Given the description of an element on the screen output the (x, y) to click on. 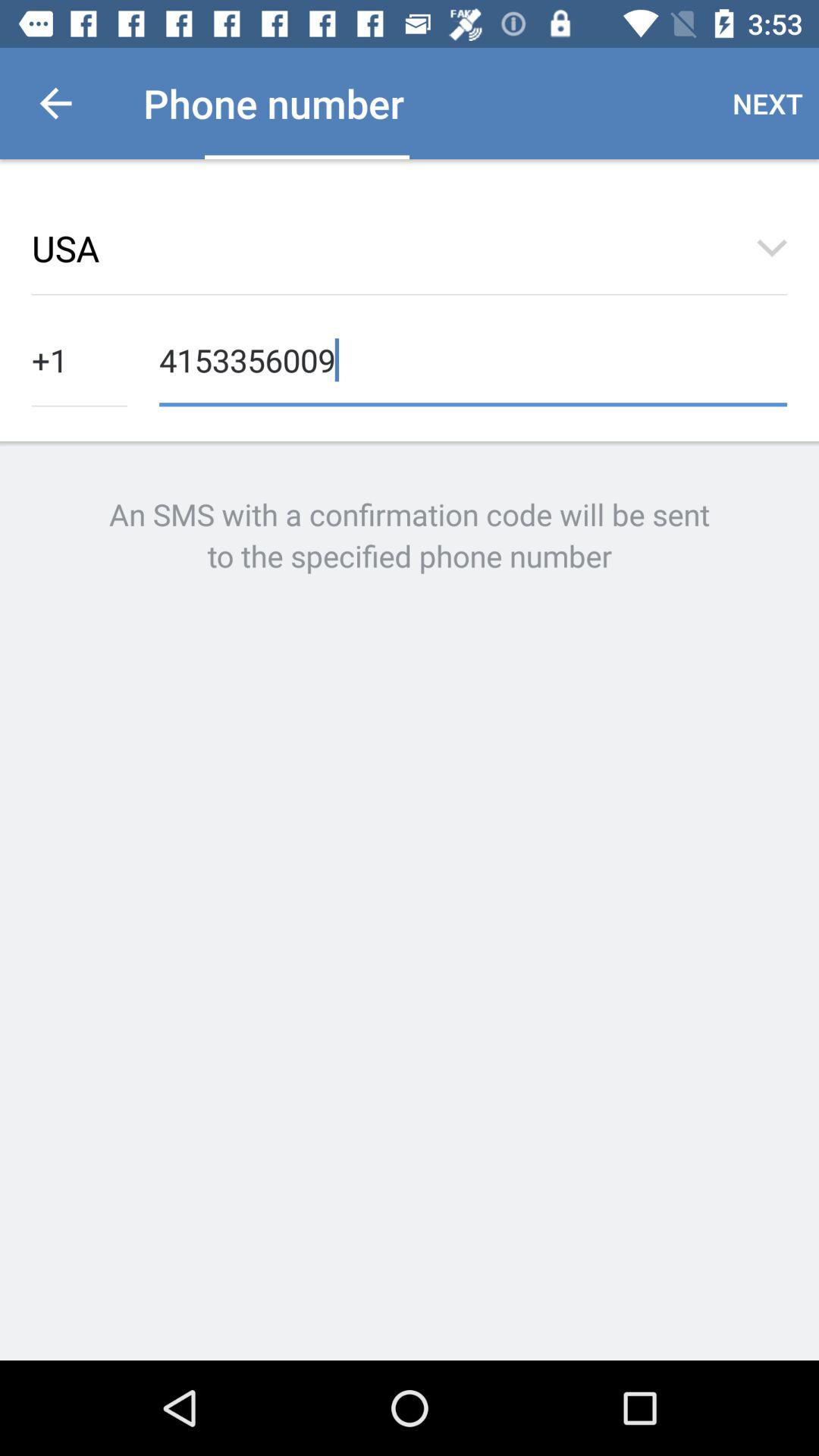
press the icon above an sms with (473, 358)
